Given the description of an element on the screen output the (x, y) to click on. 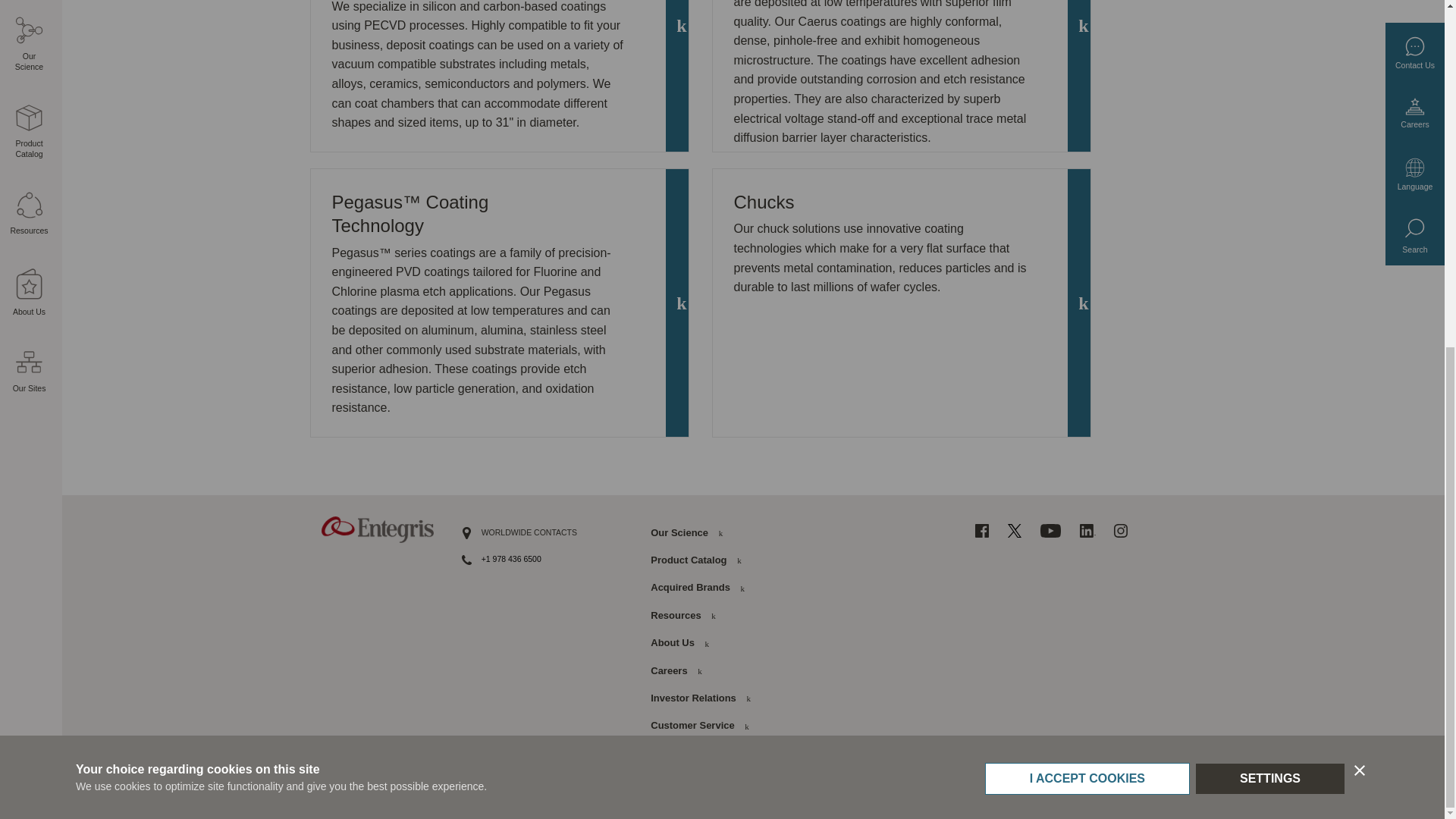
SETTINGS (1269, 200)
More (31, 183)
I ACCEPT COOKIES (1087, 210)
